Given the description of an element on the screen output the (x, y) to click on. 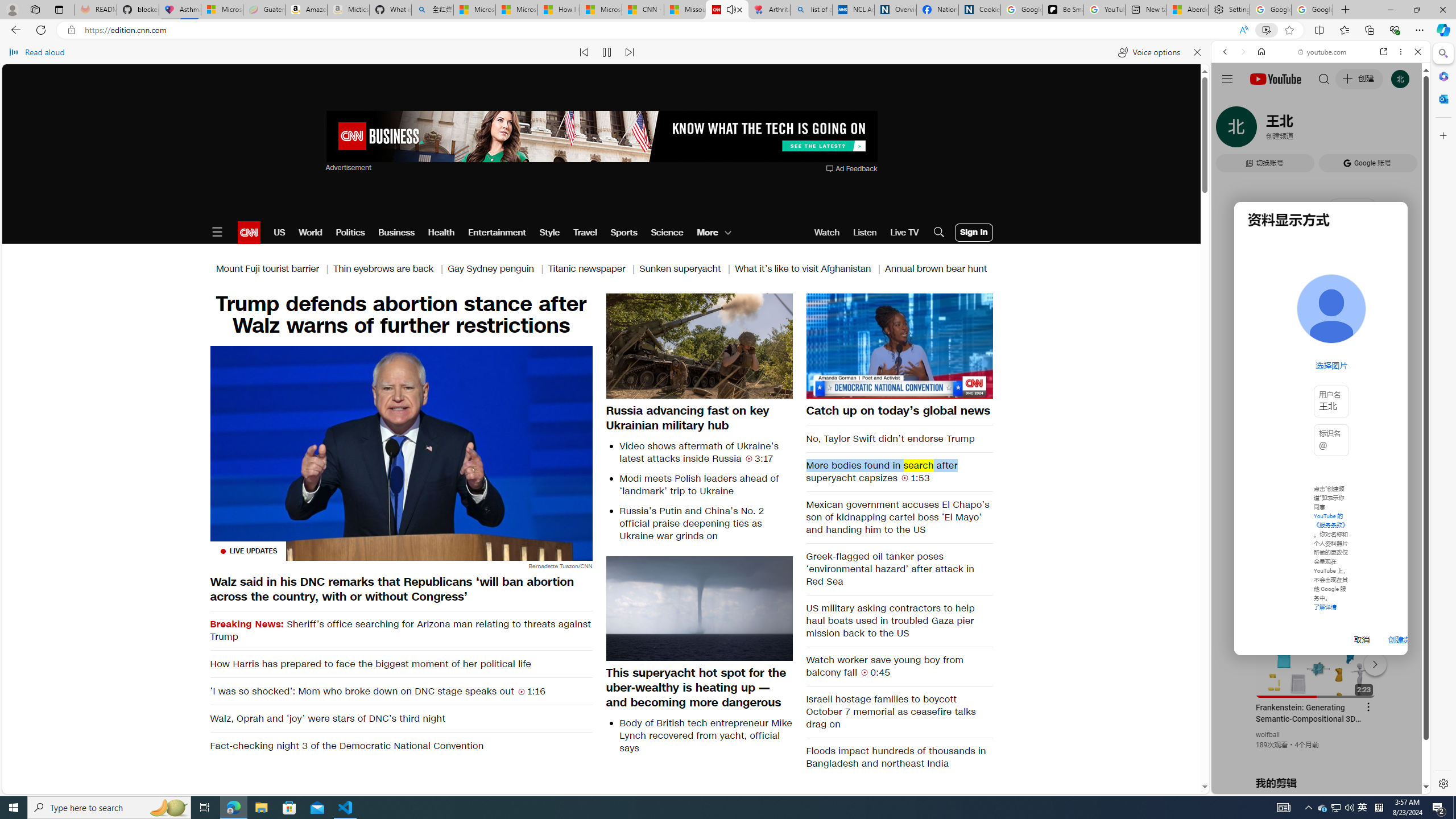
Thin eyebrows are back | (390, 268)
Fullscreen (976, 389)
